Given the description of an element on the screen output the (x, y) to click on. 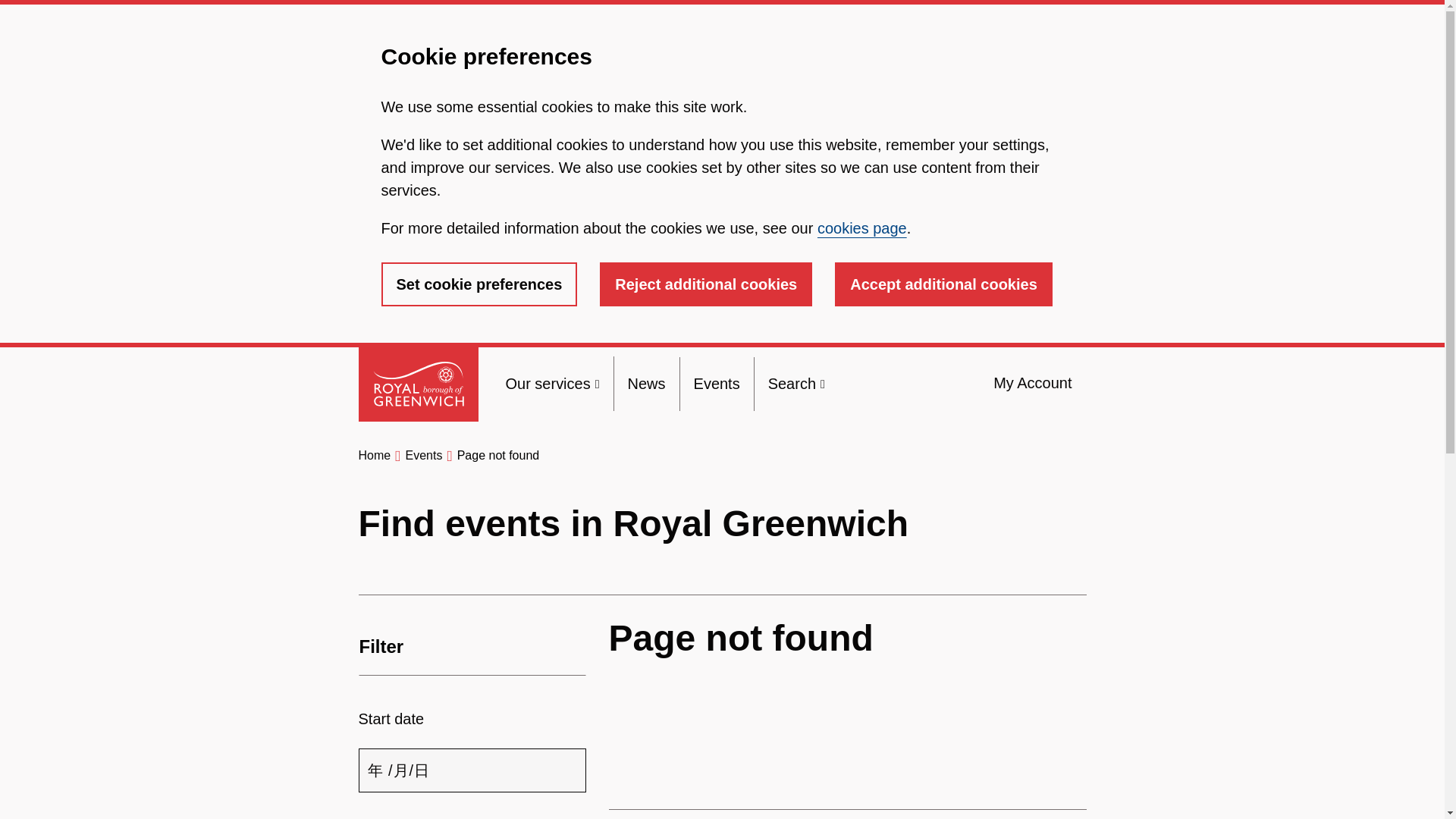
Set cookie preferences (478, 284)
Filter (471, 646)
Search (796, 383)
Reject additional cookies (705, 284)
Home (374, 455)
cookies page (861, 228)
Our services (551, 383)
My Account (1031, 383)
Events (716, 384)
Events (423, 455)
